Given the description of an element on the screen output the (x, y) to click on. 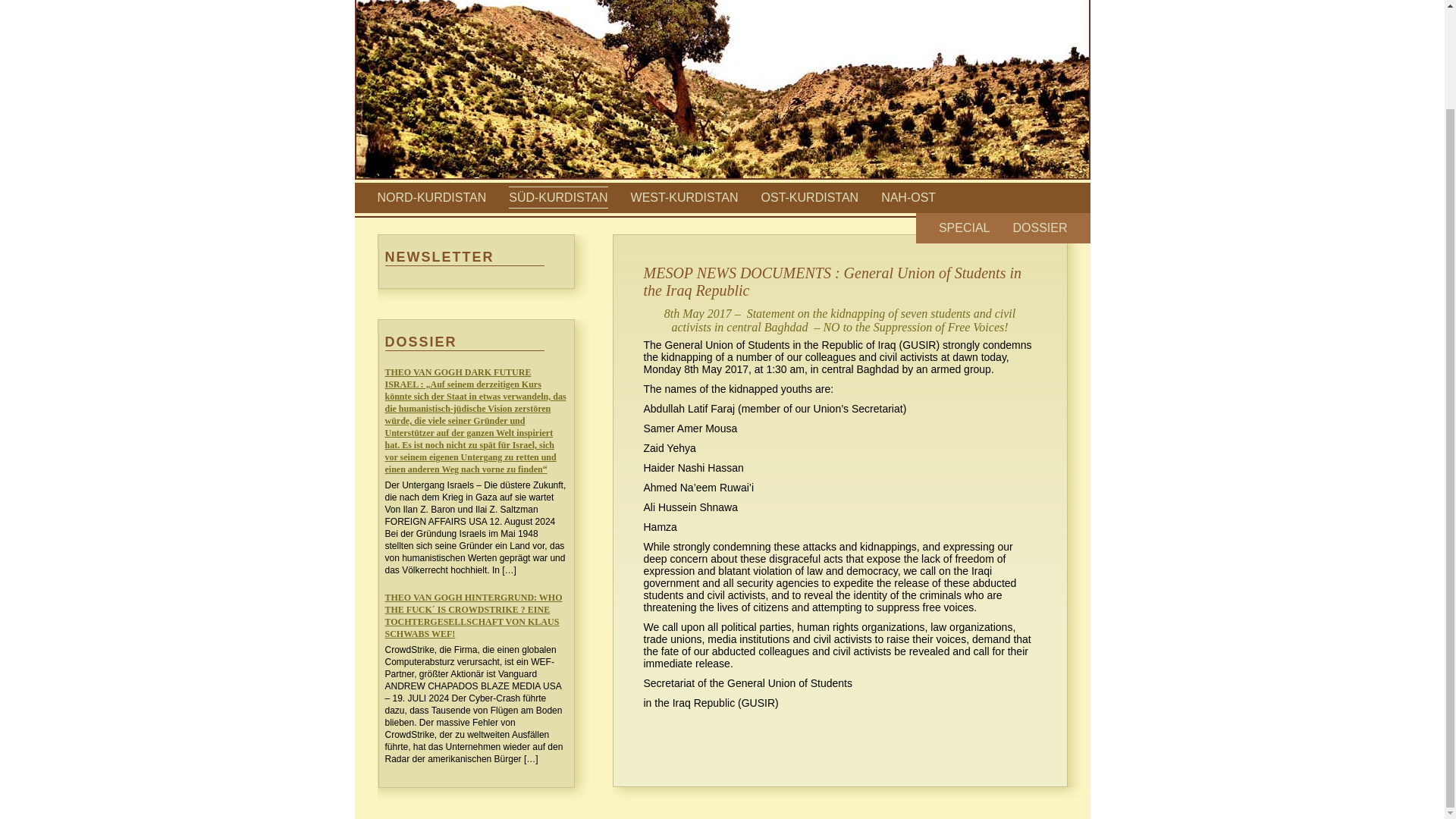
SPECIAL (964, 227)
DOSSIER (1039, 227)
NORD-KURDISTAN (431, 196)
OST-KURDISTAN (810, 196)
WEST-KURDISTAN (684, 196)
NAH-OST (908, 196)
